Given the description of an element on the screen output the (x, y) to click on. 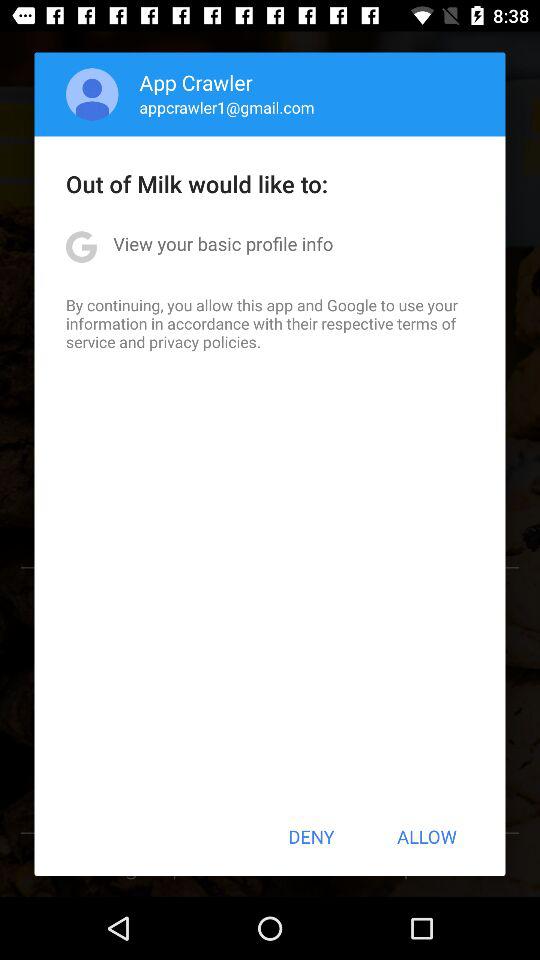
open the icon below by continuing you app (311, 836)
